Given the description of an element on the screen output the (x, y) to click on. 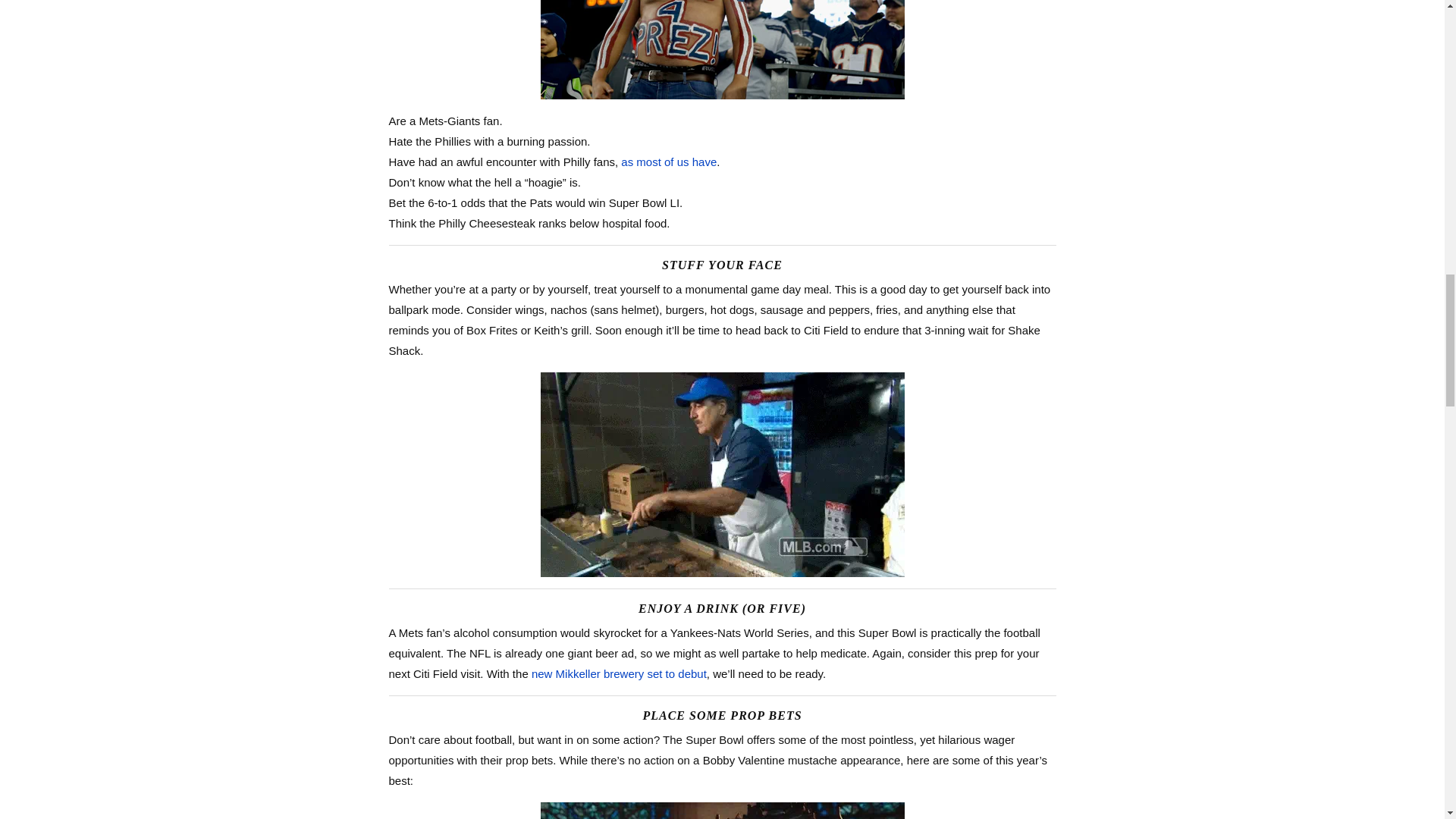
new Mikkeller brewery set to debut (618, 673)
as most of us have (668, 161)
